Given the description of an element on the screen output the (x, y) to click on. 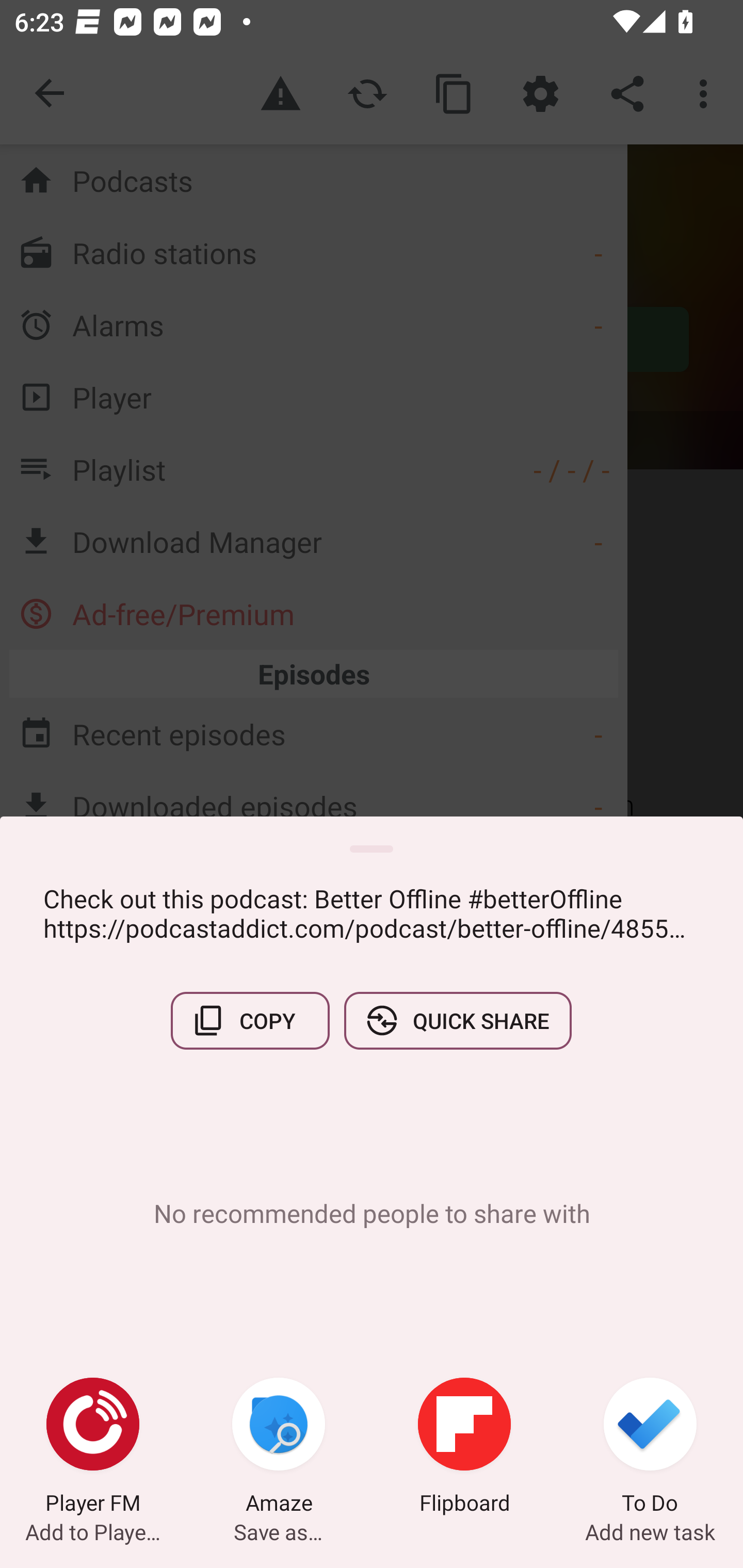
COPY (249, 1020)
QUICK SHARE (457, 1020)
Player FM Add to Player FM (92, 1448)
Amaze Save as… (278, 1448)
Flipboard (464, 1448)
To Do Add new task (650, 1448)
